Given the description of an element on the screen output the (x, y) to click on. 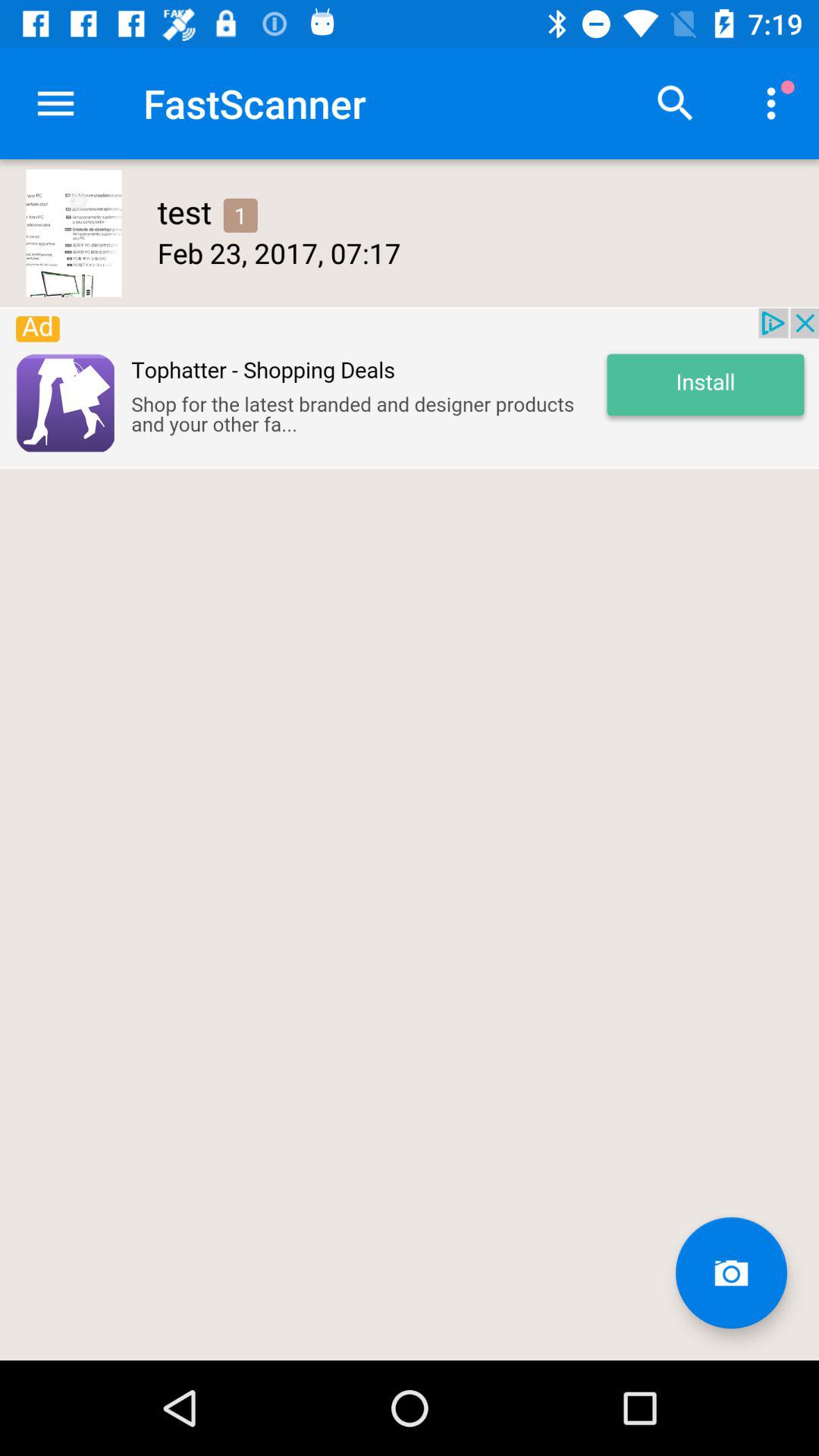
search button (675, 103)
